Given the description of an element on the screen output the (x, y) to click on. 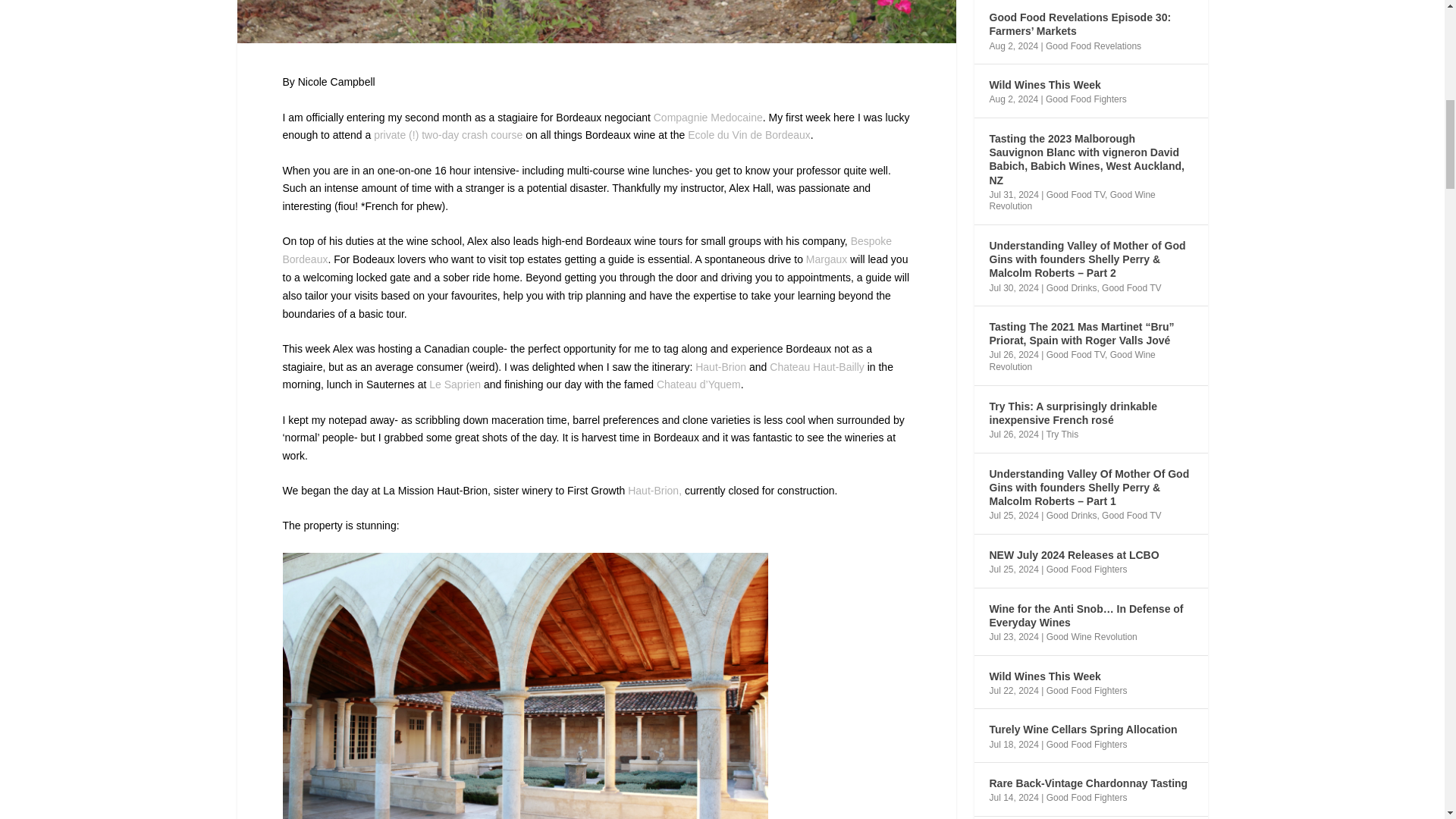
Bespoke Bordeaux (586, 250)
Chateau Haut-Bailly (818, 367)
Haut Brion entrance  (524, 685)
Haut-Brion (720, 367)
Ecole du Vin de Bordeaux (748, 134)
Margaux (826, 259)
Le Saprien (454, 384)
Compagnie Medocaine (707, 117)
